Given the description of an element on the screen output the (x, y) to click on. 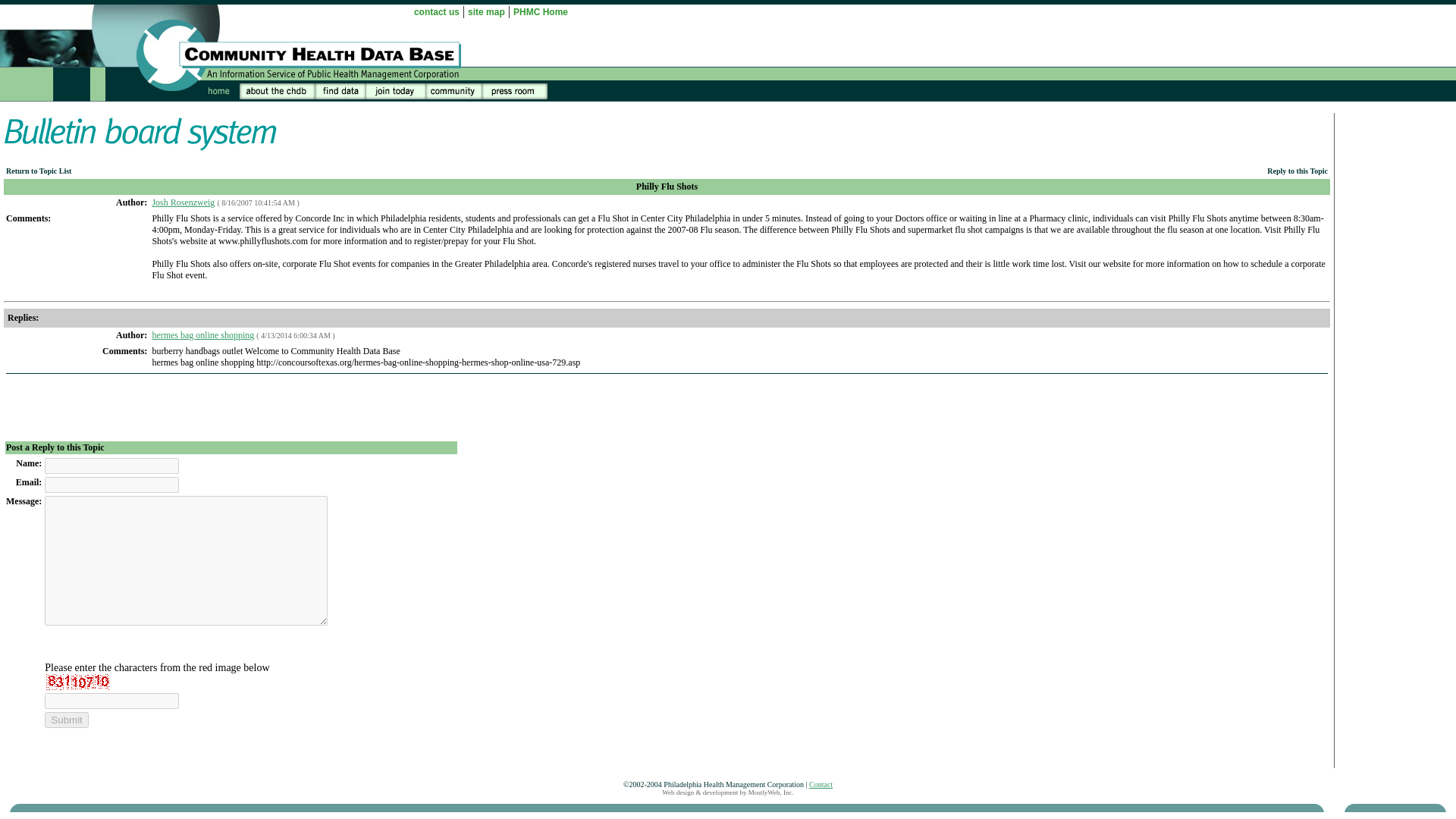
PHMC Home (540, 11)
Submit (66, 719)
Post a Reply to this Topic (54, 447)
Return to Topic List (38, 171)
site map (486, 11)
Contact (820, 784)
Josh Rosenzweig (182, 202)
hermes bag online shopping (202, 335)
Submit (66, 719)
Reply to this Topic (1296, 171)
